Given the description of an element on the screen output the (x, y) to click on. 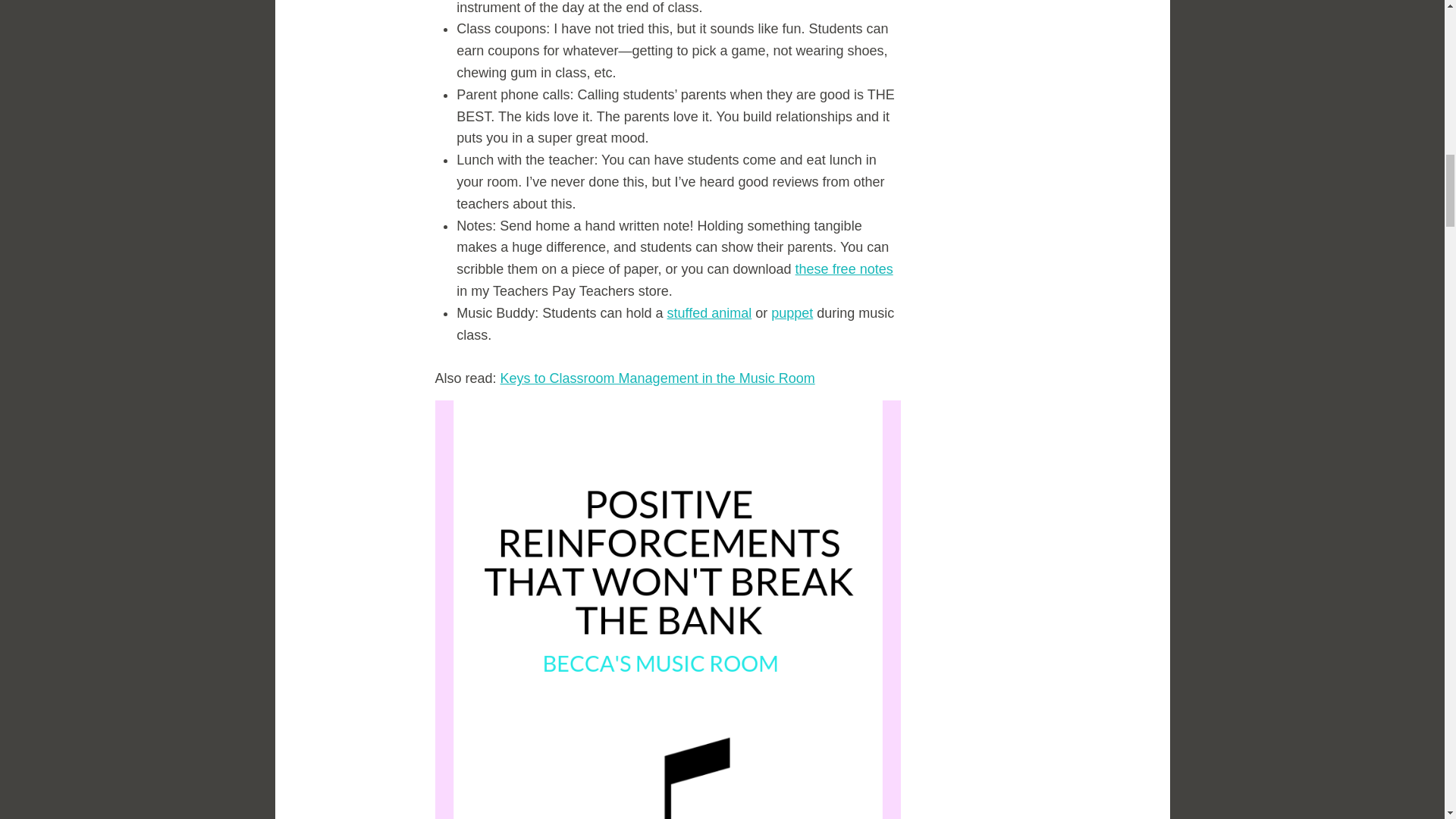
Keys to Classroom Management in the Music Room (657, 378)
these free notes (843, 268)
stuffed animal (708, 313)
puppet (791, 313)
